Given the description of an element on the screen output the (x, y) to click on. 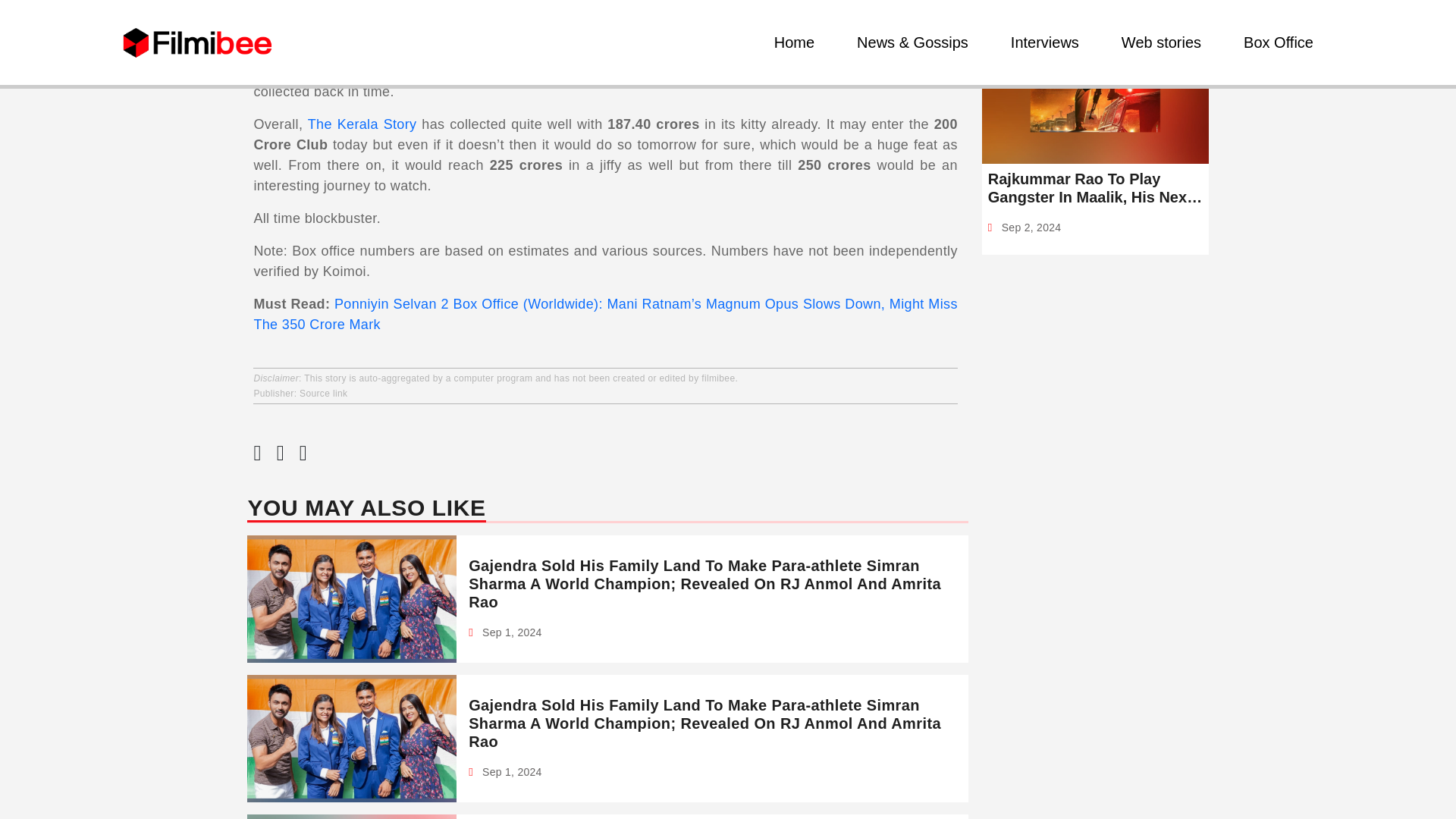
The Kerala Story (361, 124)
The Kashmir Files (868, 70)
Rajkummar Rao To Play Gangster In Maalik, His Next Movie (1095, 187)
Source link (323, 393)
